Given the description of an element on the screen output the (x, y) to click on. 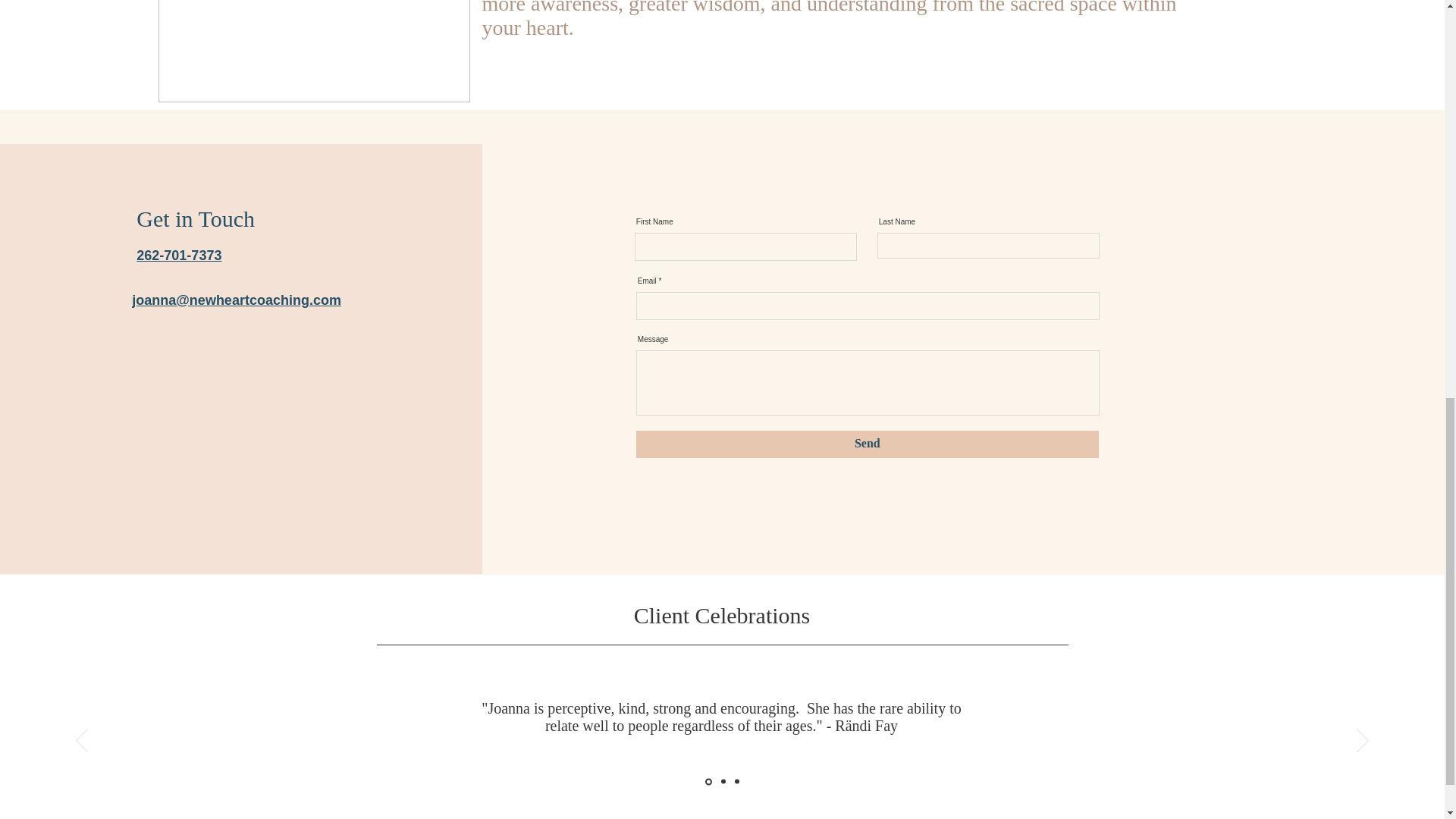
Send (867, 443)
262-701-7373 (178, 255)
